Given the description of an element on the screen output the (x, y) to click on. 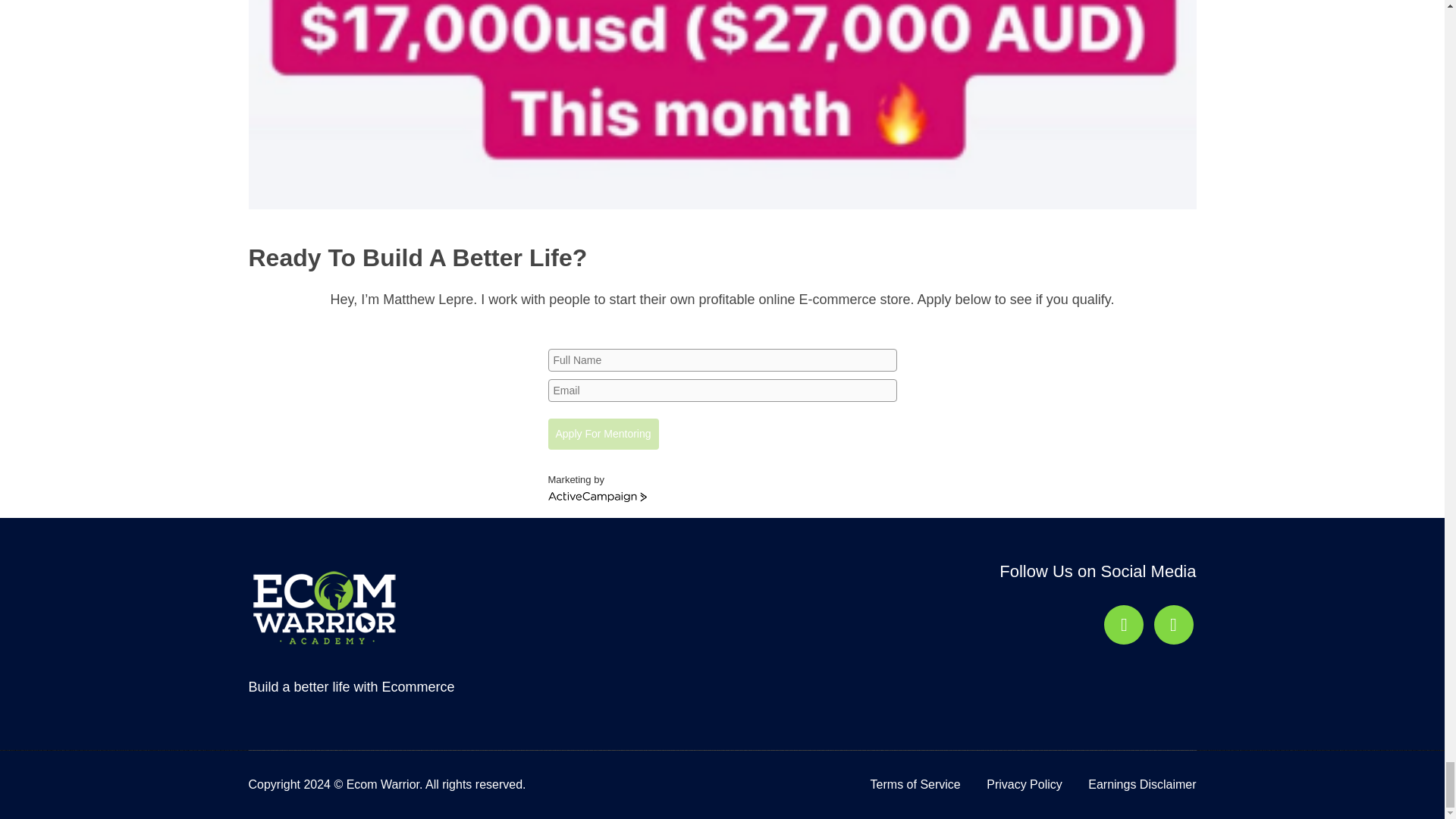
Apply For Mentoring (602, 433)
Terms of Service (915, 784)
Privacy Policy (1024, 784)
Earnings Disclaimer (1141, 784)
Default Label (1122, 623)
instagram (1173, 623)
Instagram (1173, 623)
facebook (1122, 623)
ActiveCampaign (596, 497)
